Given the description of an element on the screen output the (x, y) to click on. 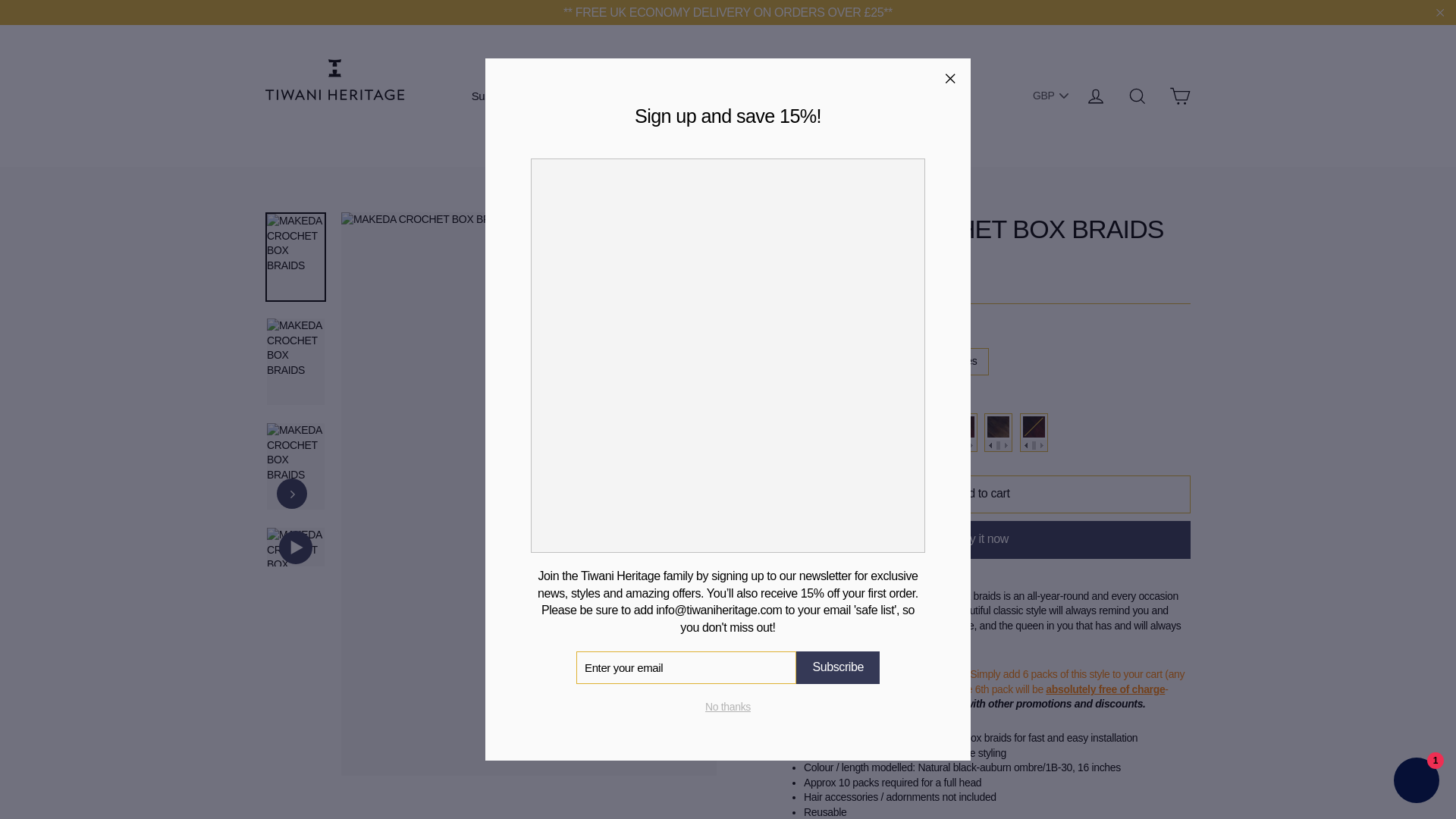
Sustainability (510, 95)
Collections (607, 95)
